Given the description of an element on the screen output the (x, y) to click on. 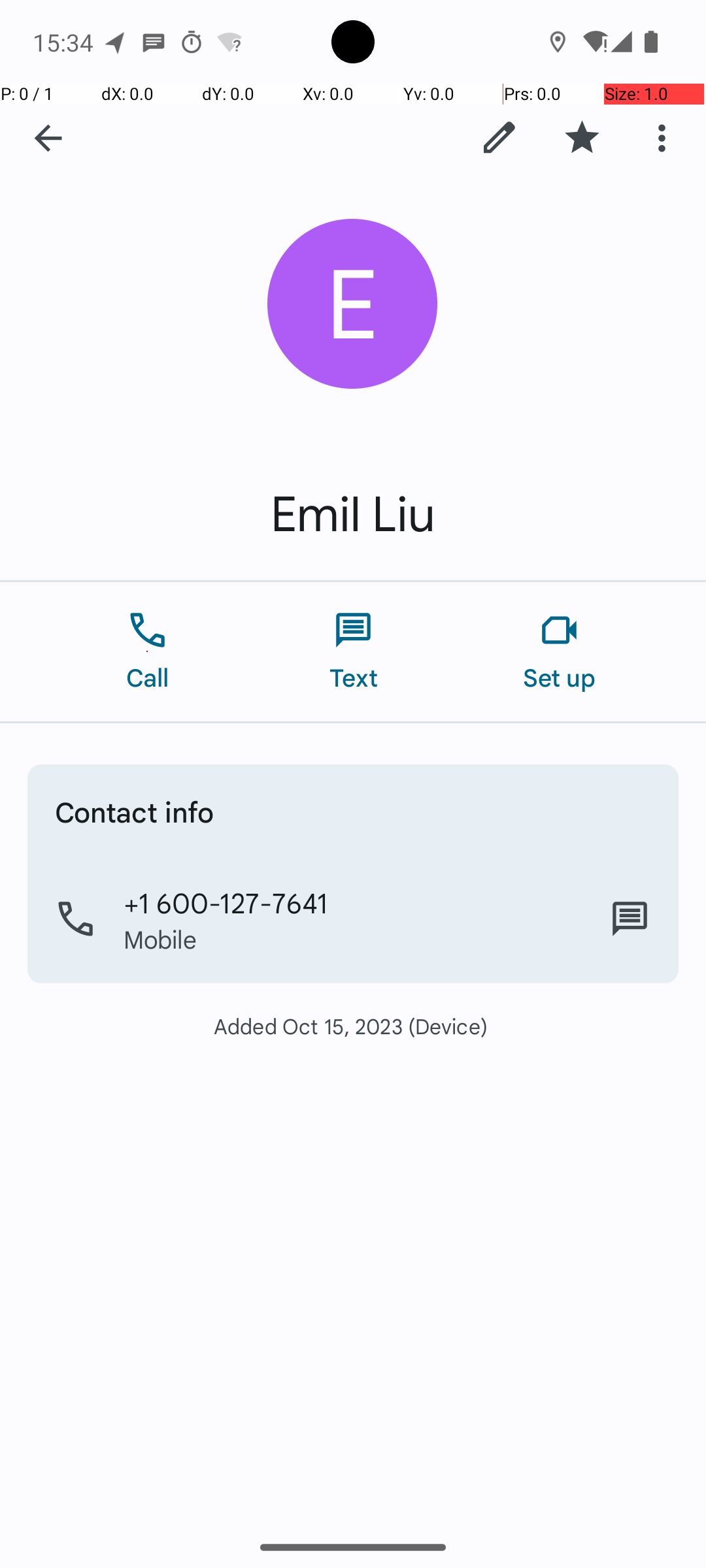
Emil Liu Element type: android.widget.TextView (352, 514)
Call Mobile +1 600-127-7641 Element type: android.widget.RelativeLayout (352, 919)
Added Oct 15, 2023 (Device)  Element type: android.widget.TextView (352, 1025)
+1 600-127-7641 Element type: android.widget.TextView (225, 901)
Text Mobile +1 600-127-7641 Element type: android.widget.Button (629, 919)
